Given the description of an element on the screen output the (x, y) to click on. 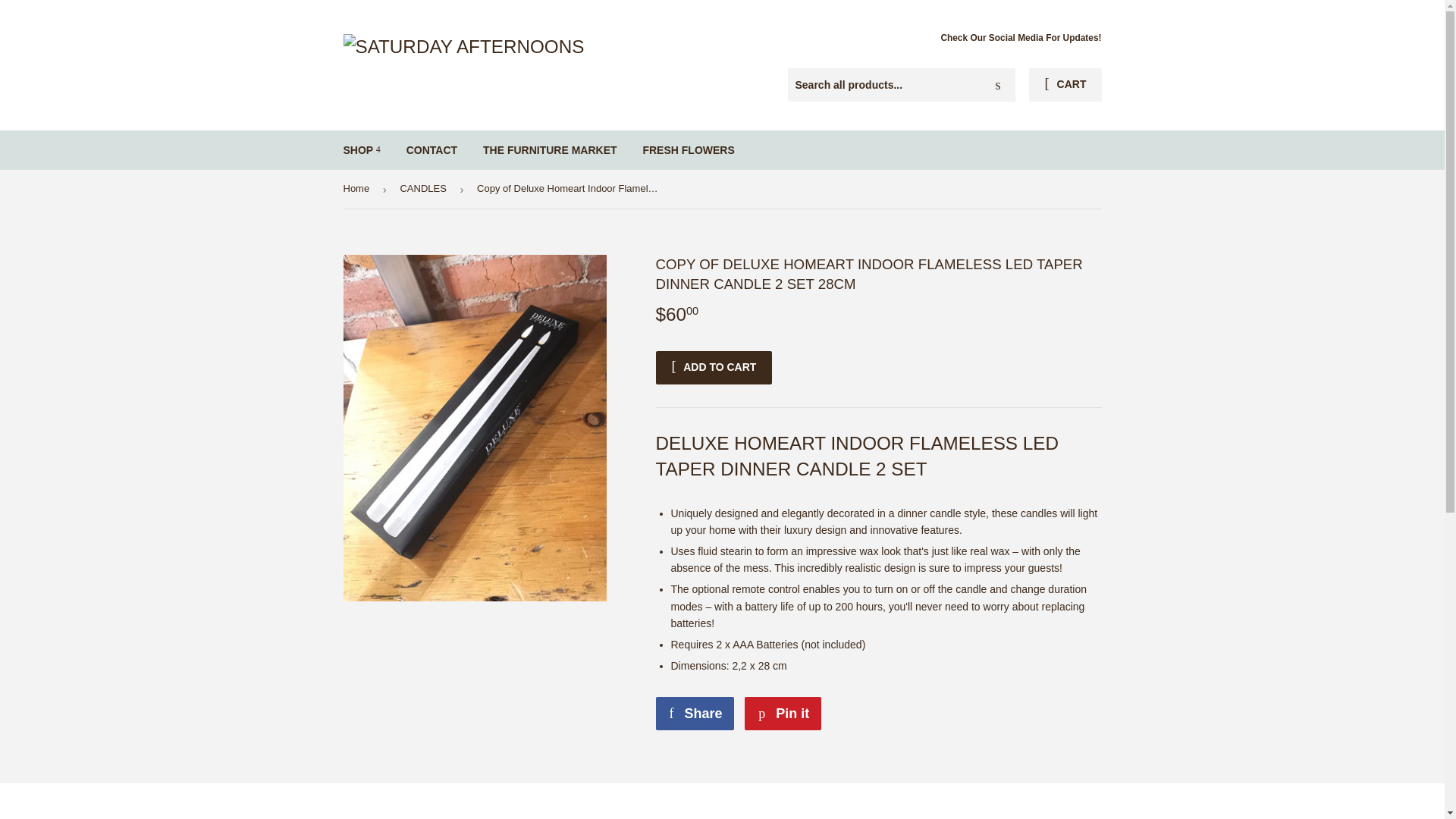
ADD TO CART (713, 367)
CONTACT (431, 149)
Search (694, 713)
Back to the frontpage (997, 85)
Share on Facebook (358, 188)
CART (694, 713)
Check Our Social Media For Updates! (1064, 84)
THE FURNITURE MARKET (1020, 38)
FRESH FLOWERS (549, 149)
Home (782, 713)
SHOP (687, 149)
CANDLES (358, 188)
Pin on Pinterest (361, 149)
